Given the description of an element on the screen output the (x, y) to click on. 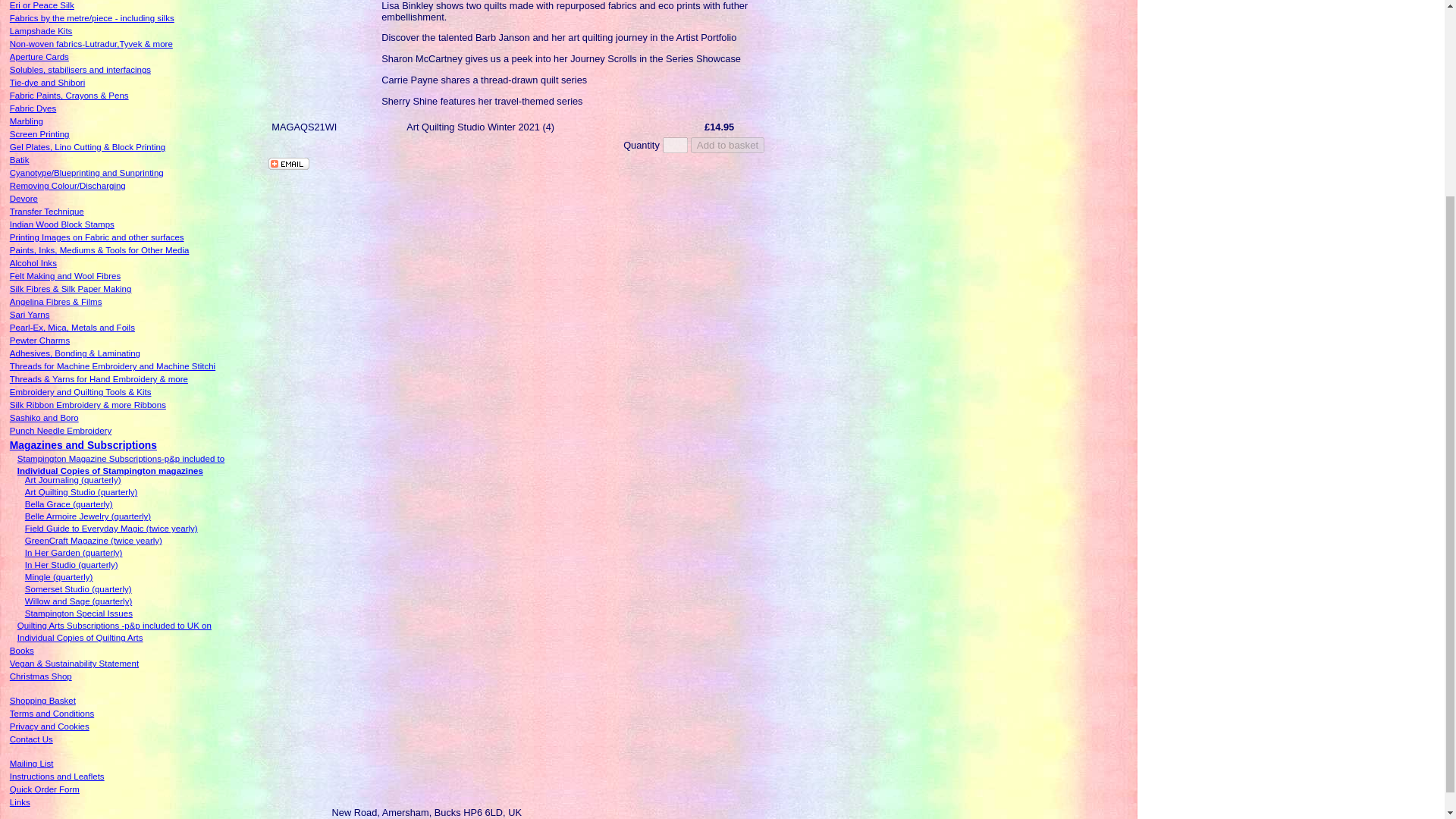
Solubles, stabilisers and interfacings (80, 69)
Aperture Cards (39, 56)
Indian Wood Block Stamps (62, 224)
Alcohol Inks (33, 262)
Devore (23, 198)
Tie-dye and Shibori (47, 81)
Eri or Peace Silk (42, 4)
Lampshade Kits (41, 31)
Batik (19, 159)
Printing Images on Fabric and other surfaces (97, 236)
